Given the description of an element on the screen output the (x, y) to click on. 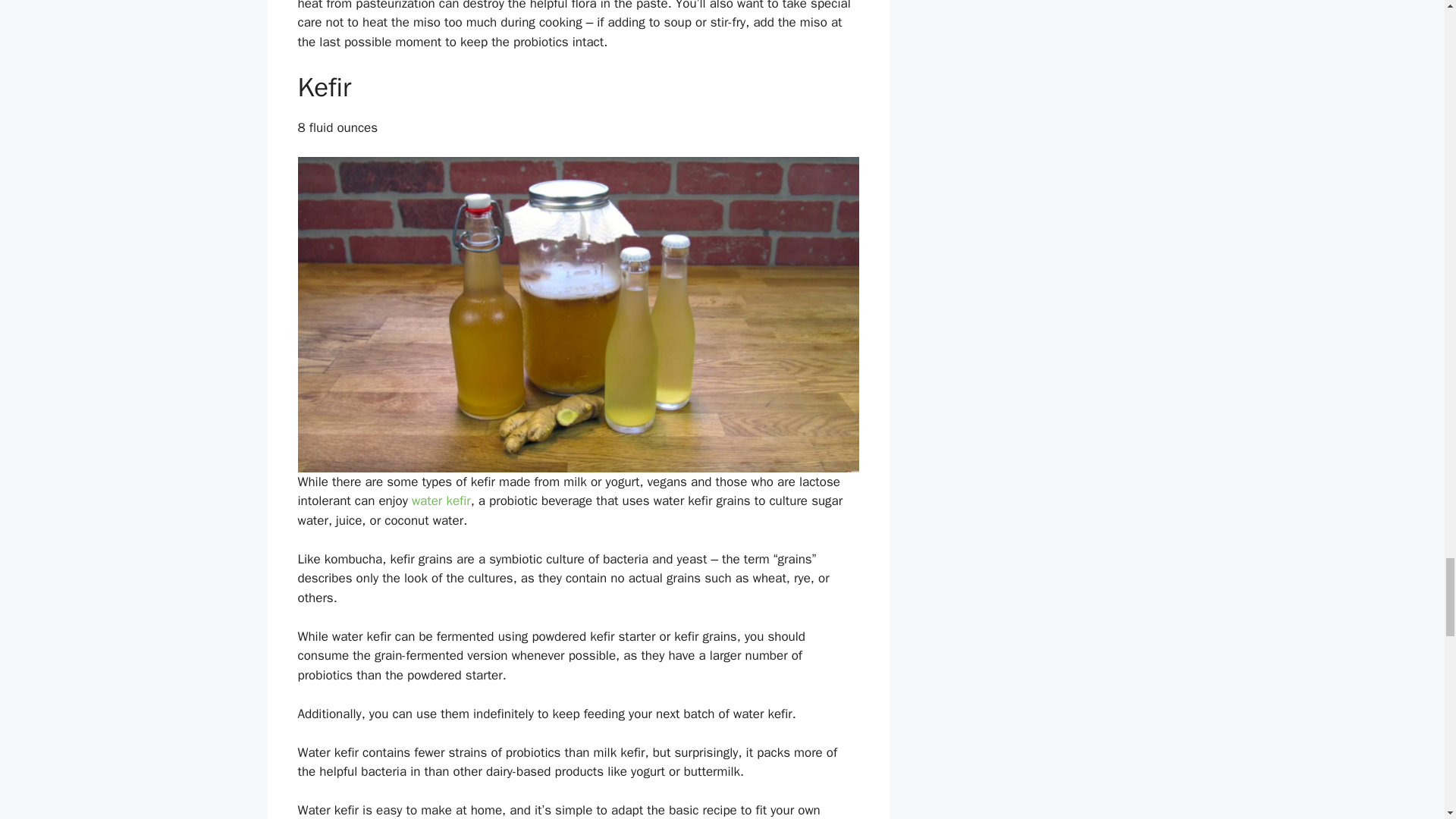
water kefir (441, 500)
